Given the description of an element on the screen output the (x, y) to click on. 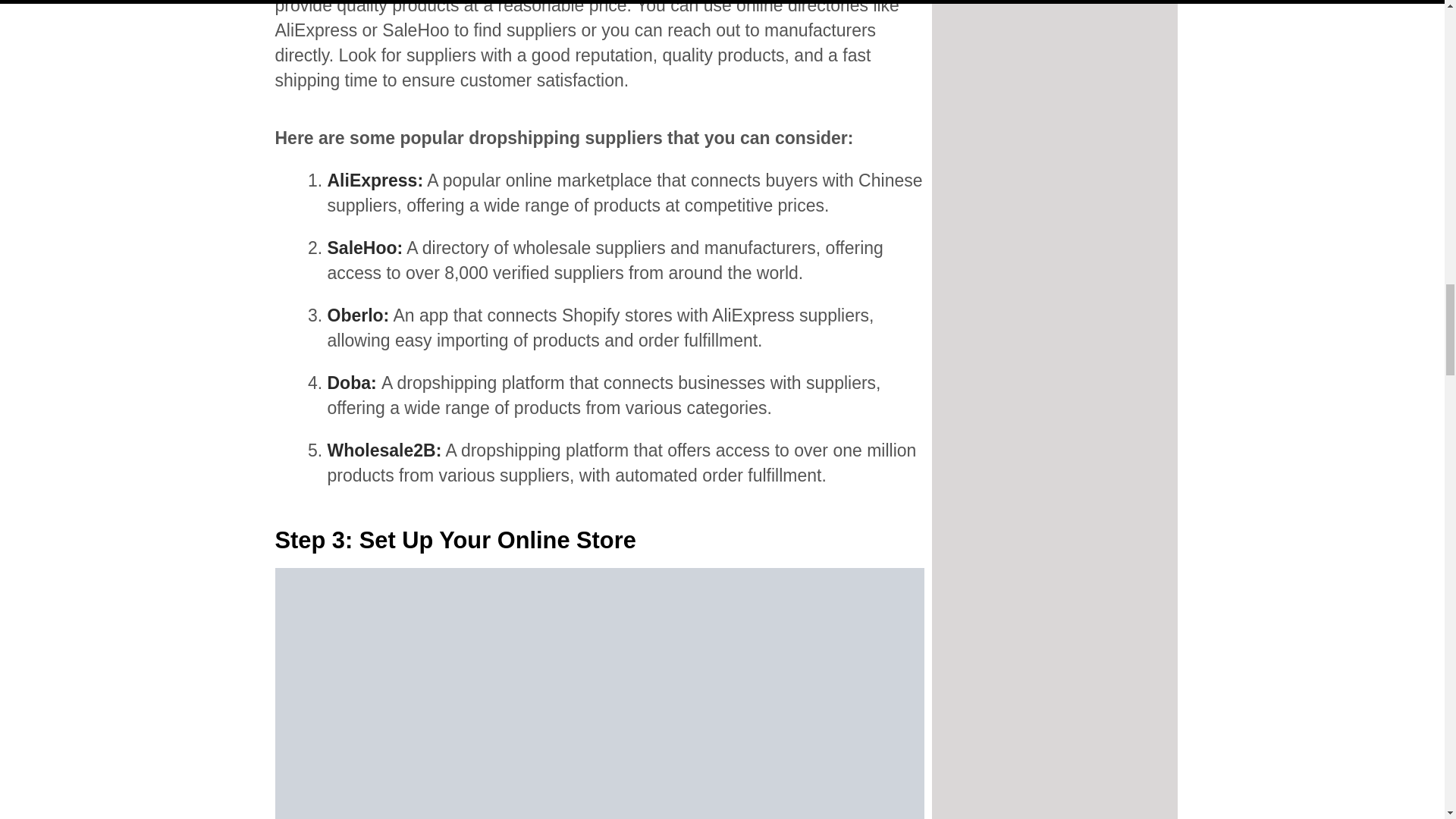
AliExpress: (375, 180)
SaleHoo: (365, 247)
Doba: (354, 383)
Wholesale2B: (384, 450)
Oberlo: (358, 315)
